Given the description of an element on the screen output the (x, y) to click on. 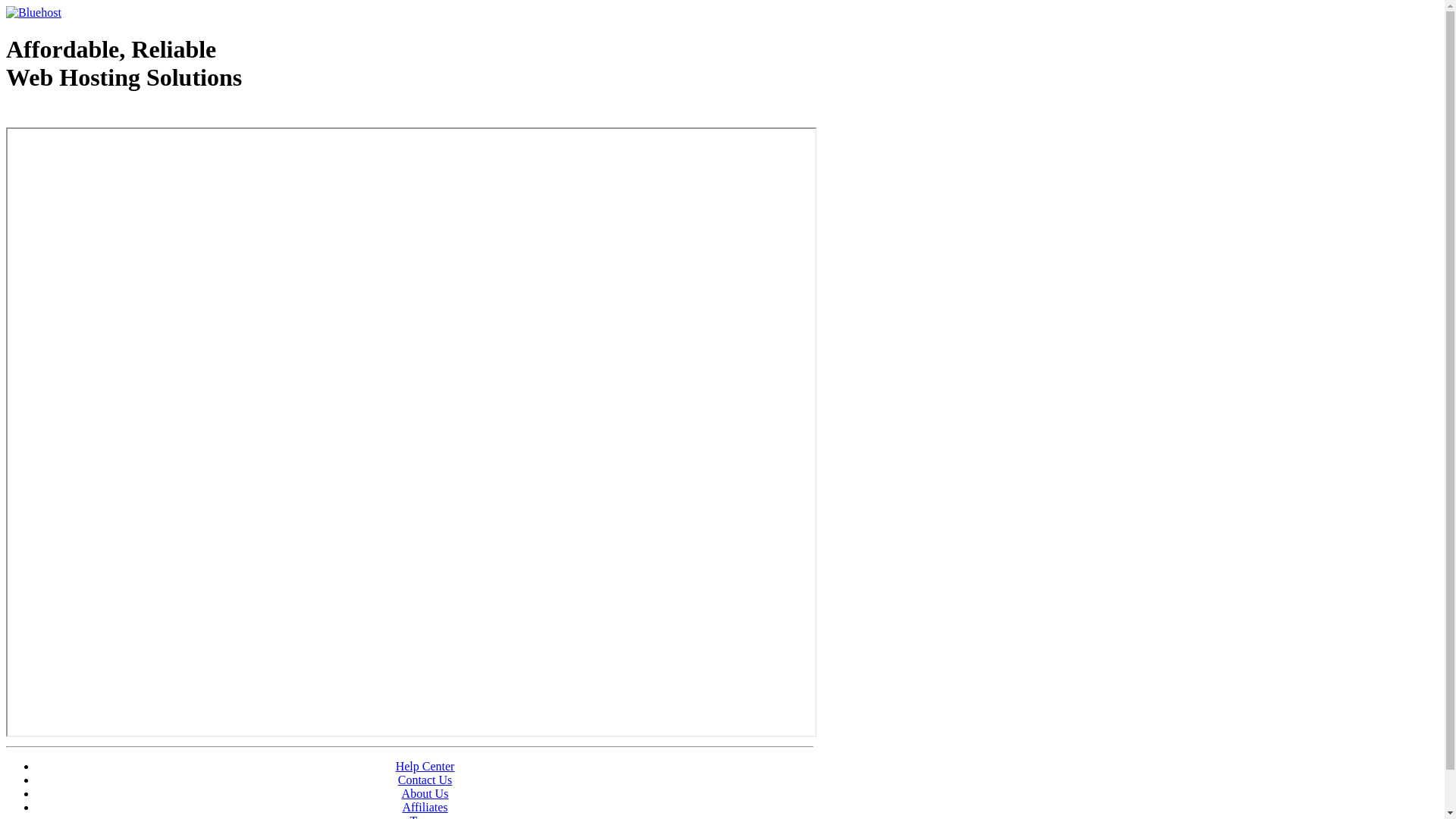
Help Center Element type: text (425, 765)
Contact Us Element type: text (425, 779)
About Us Element type: text (424, 793)
Affiliates Element type: text (424, 806)
Web Hosting - courtesy of www.bluehost.com Element type: text (94, 115)
